Given the description of an element on the screen output the (x, y) to click on. 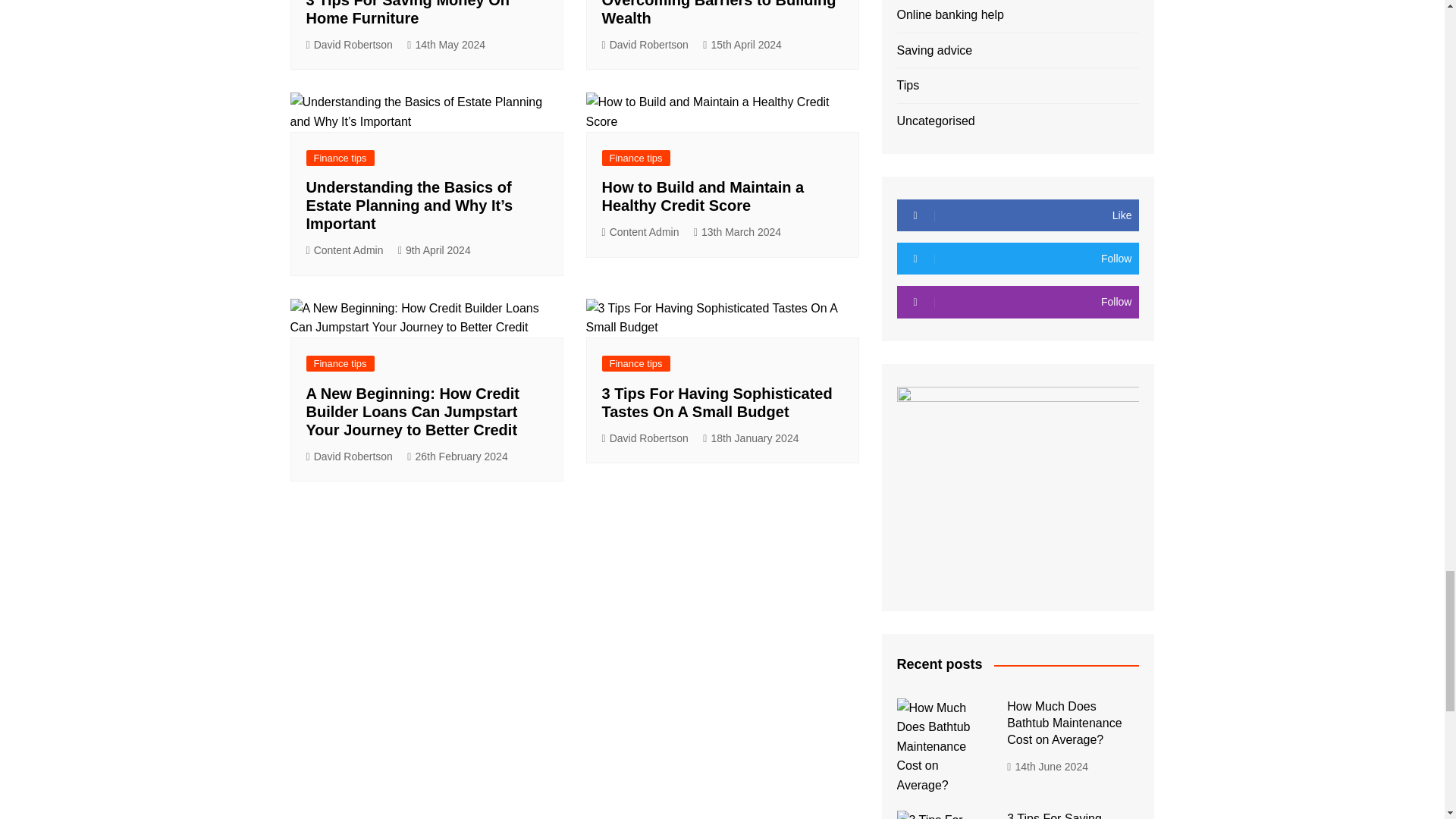
15th April 2024 (742, 45)
3 Tips For Saving Money On Home Furniture (408, 13)
Finance tips (339, 157)
14th May 2024 (445, 45)
David Robertson (349, 45)
Overcoming Barriers to Building Wealth (718, 13)
David Robertson (645, 45)
